Given the description of an element on the screen output the (x, y) to click on. 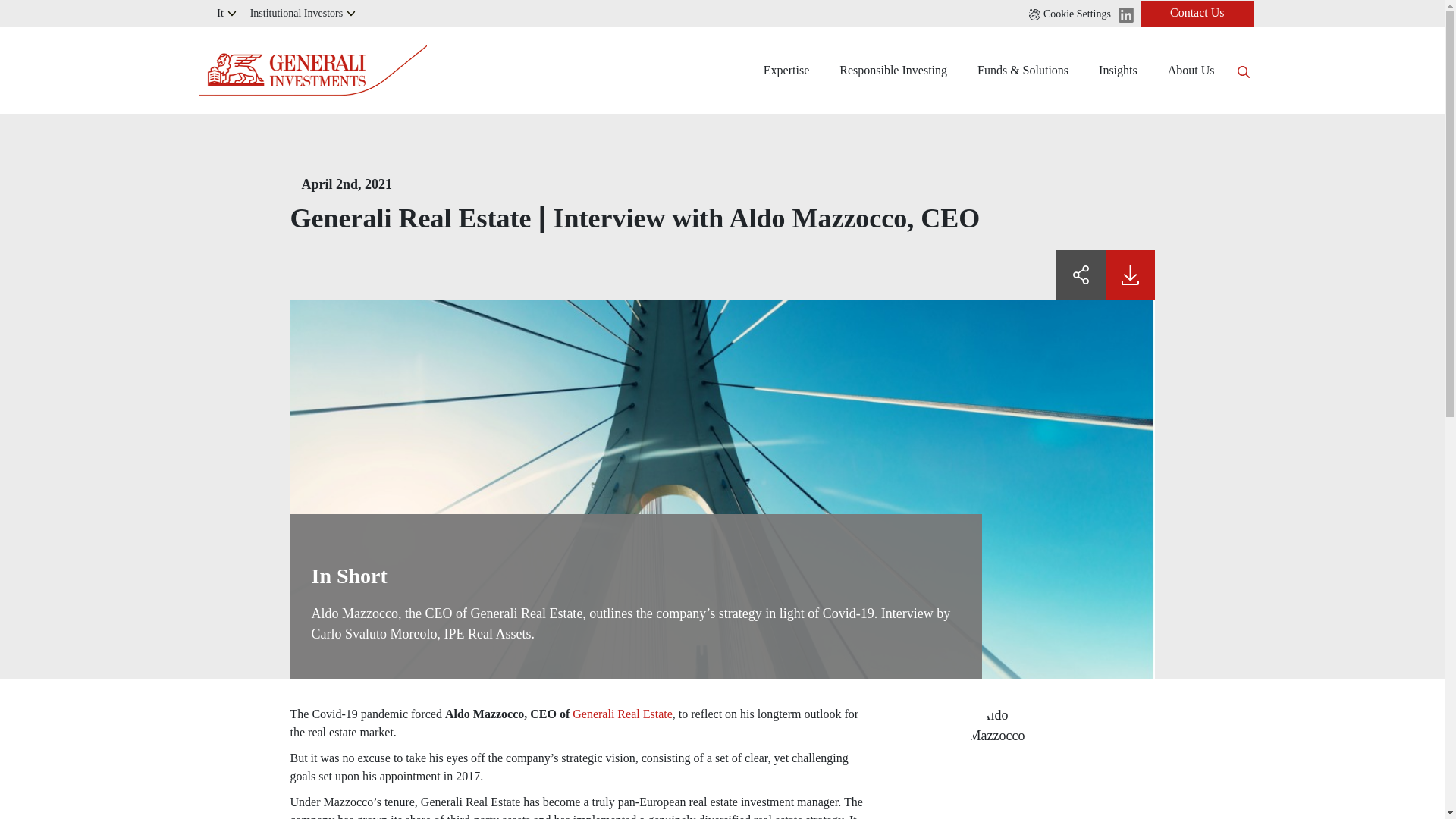
Contact Us (1197, 13)
Responsible Investing (893, 70)
Insights (1118, 70)
About Us (1191, 70)
Expertise (786, 70)
